Given the description of an element on the screen output the (x, y) to click on. 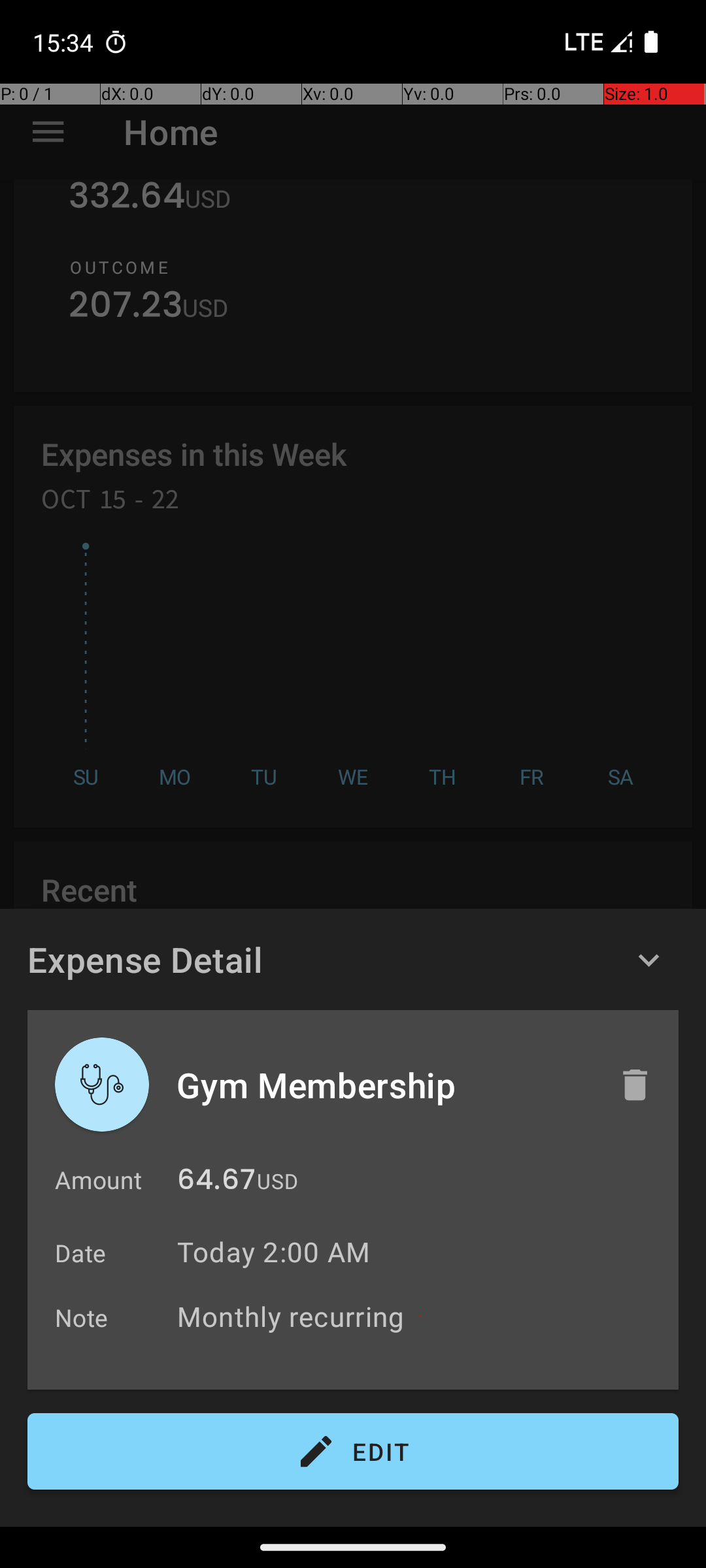
Gym Membership Element type: android.widget.TextView (383, 1084)
64.67 Element type: android.widget.TextView (216, 1182)
Today 2:00 AM Element type: android.widget.TextView (273, 1251)
